Given the description of an element on the screen output the (x, y) to click on. 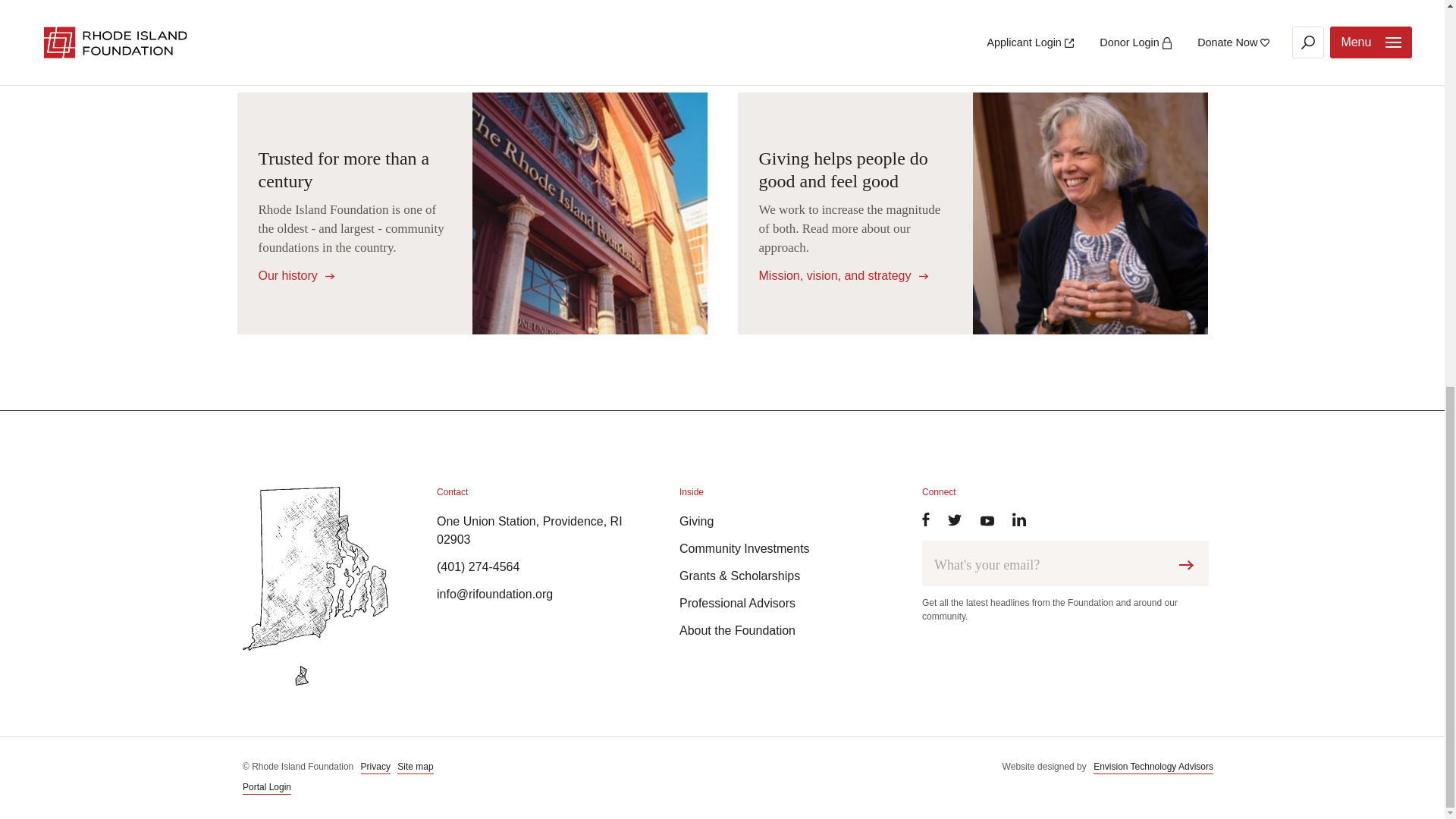
Envision Technology Advisors (1152, 766)
Our history (295, 275)
One Union Station, Providence, RI 02903 (533, 530)
Giving (776, 521)
Submit (1190, 566)
Community Investments (776, 548)
Professional Advisors (776, 603)
About the Foundation (776, 630)
Site map (414, 766)
Mission, vision, and strategy (842, 275)
Privacy (375, 766)
